Given the description of an element on the screen output the (x, y) to click on. 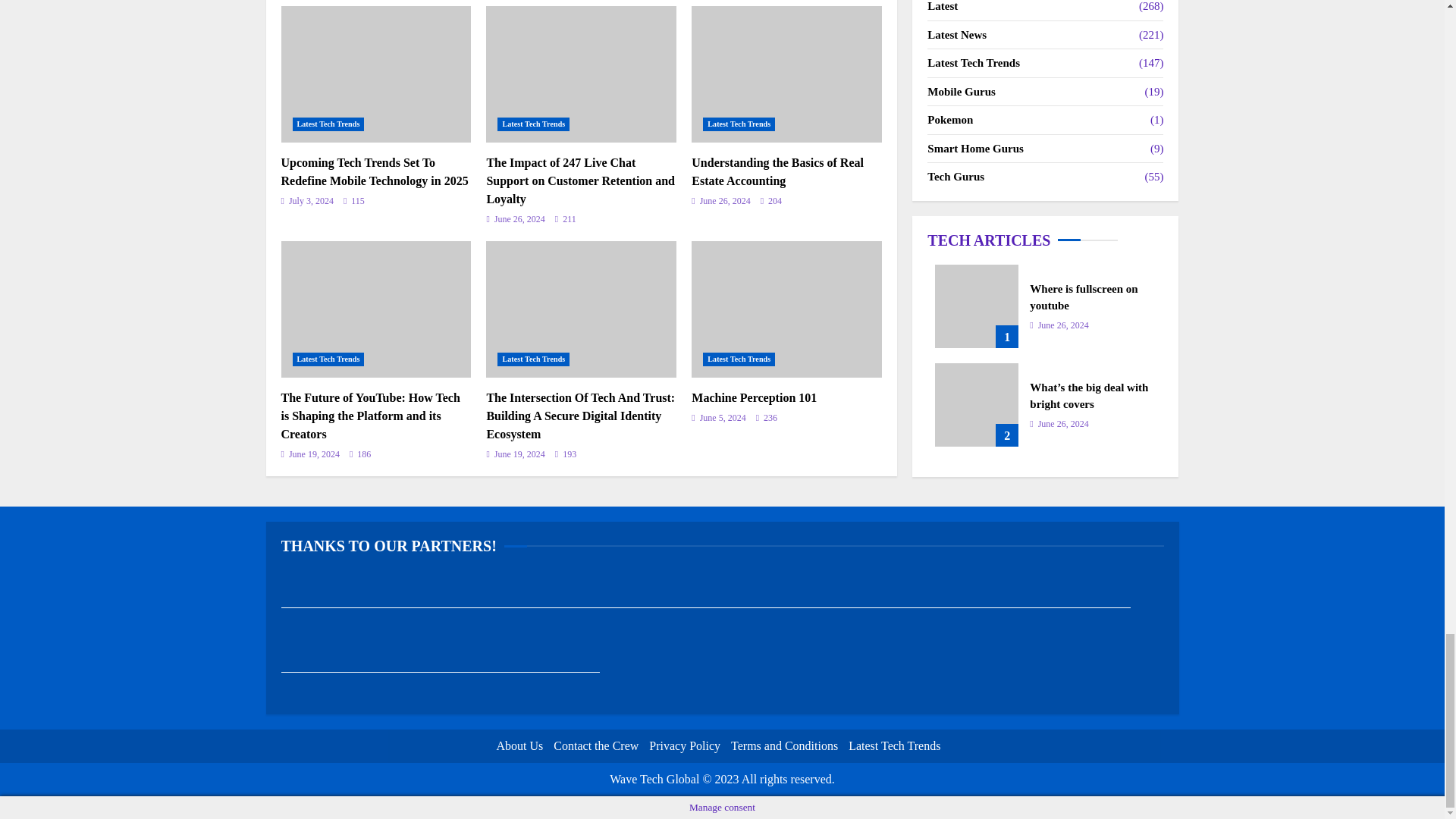
Latest Tech Trends (328, 124)
115 (334, 665)
new online slots uk (354, 201)
casinos con tiradas gratis (440, 601)
deposit bonus no wagering (970, 601)
tragamonedas por dinero real (651, 601)
